Given the description of an element on the screen output the (x, y) to click on. 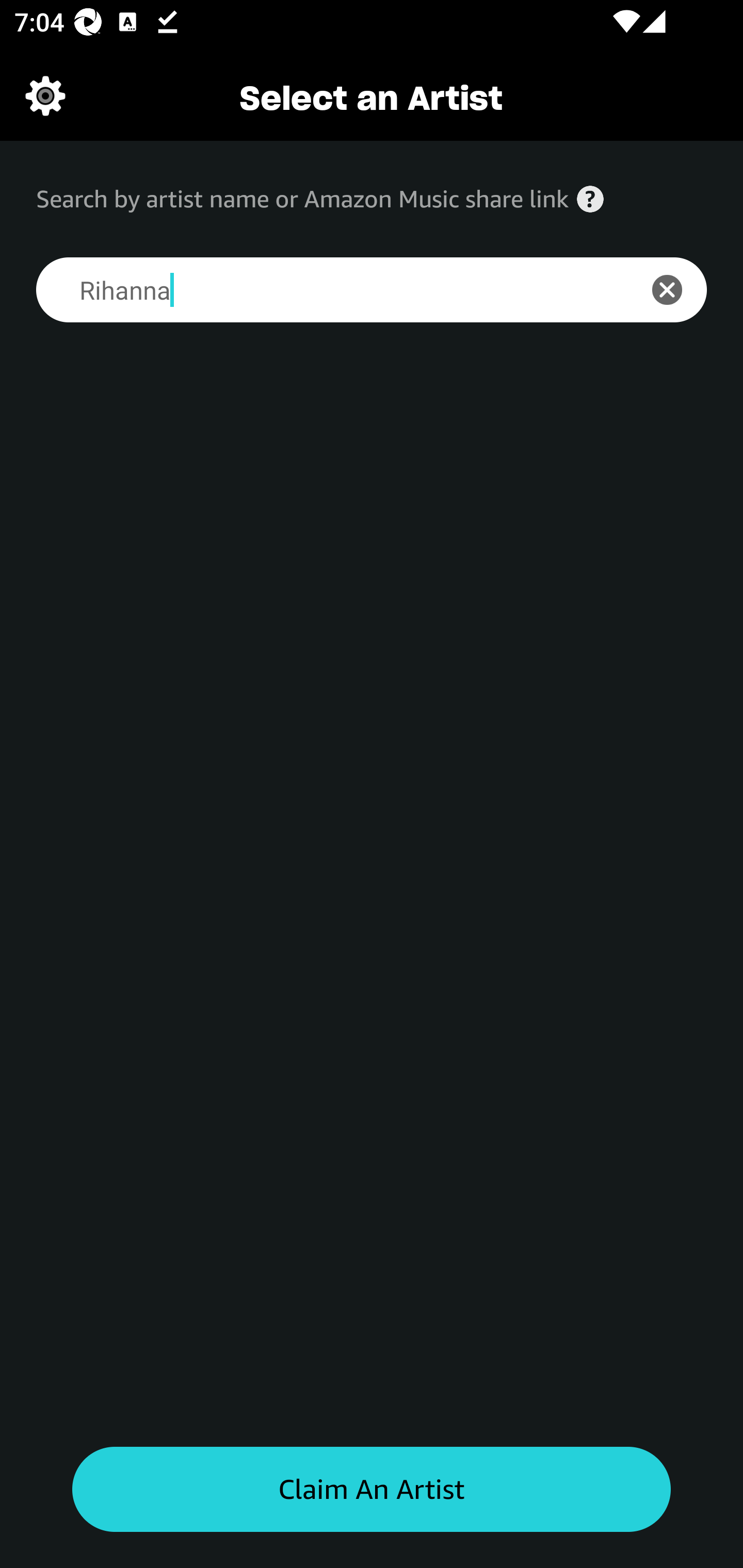
Help  icon (589, 199)
Rihanna Search for an artist search bar (324, 290)
 icon (677, 290)
Claim an artist button Claim An Artist (371, 1489)
